Given the description of an element on the screen output the (x, y) to click on. 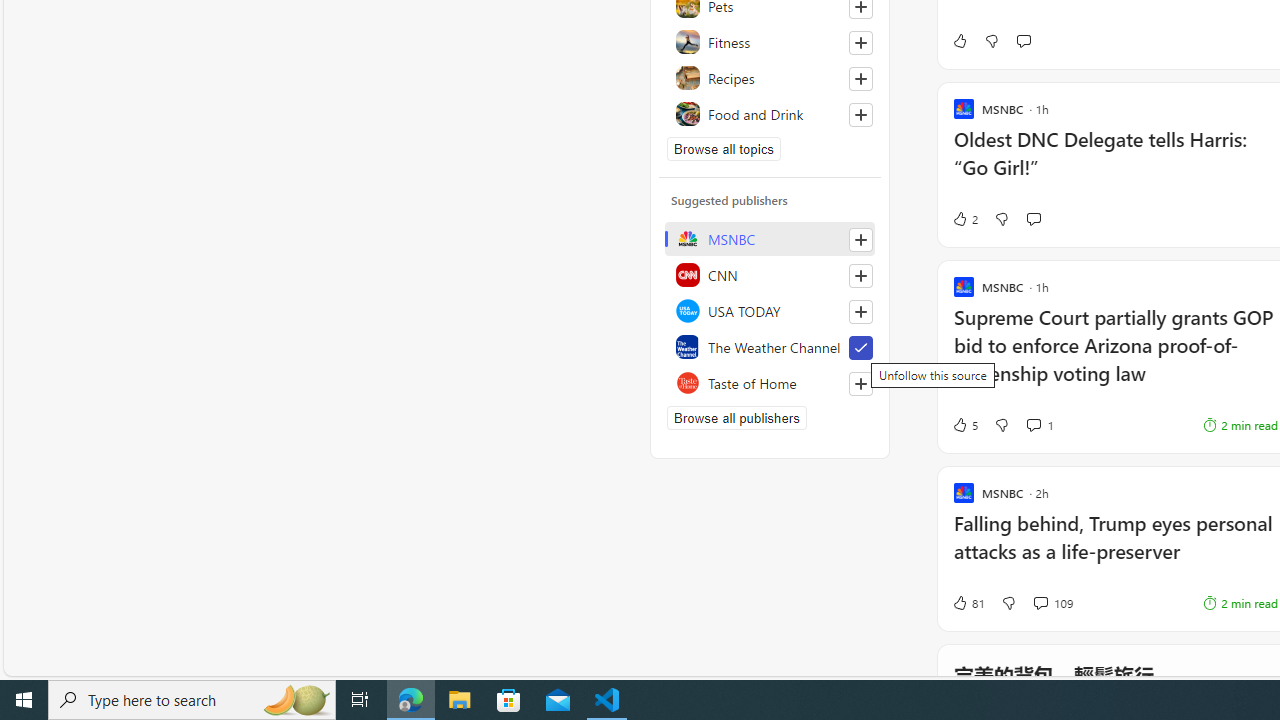
Follow this source (860, 384)
Food and Drink (770, 114)
Like (959, 40)
MSNBC (770, 238)
CNN (770, 274)
View comments 109 Comment (1052, 602)
Follow this source (860, 384)
View comments 109 Comment (1040, 602)
81 Like (968, 602)
